Given the description of an element on the screen output the (x, y) to click on. 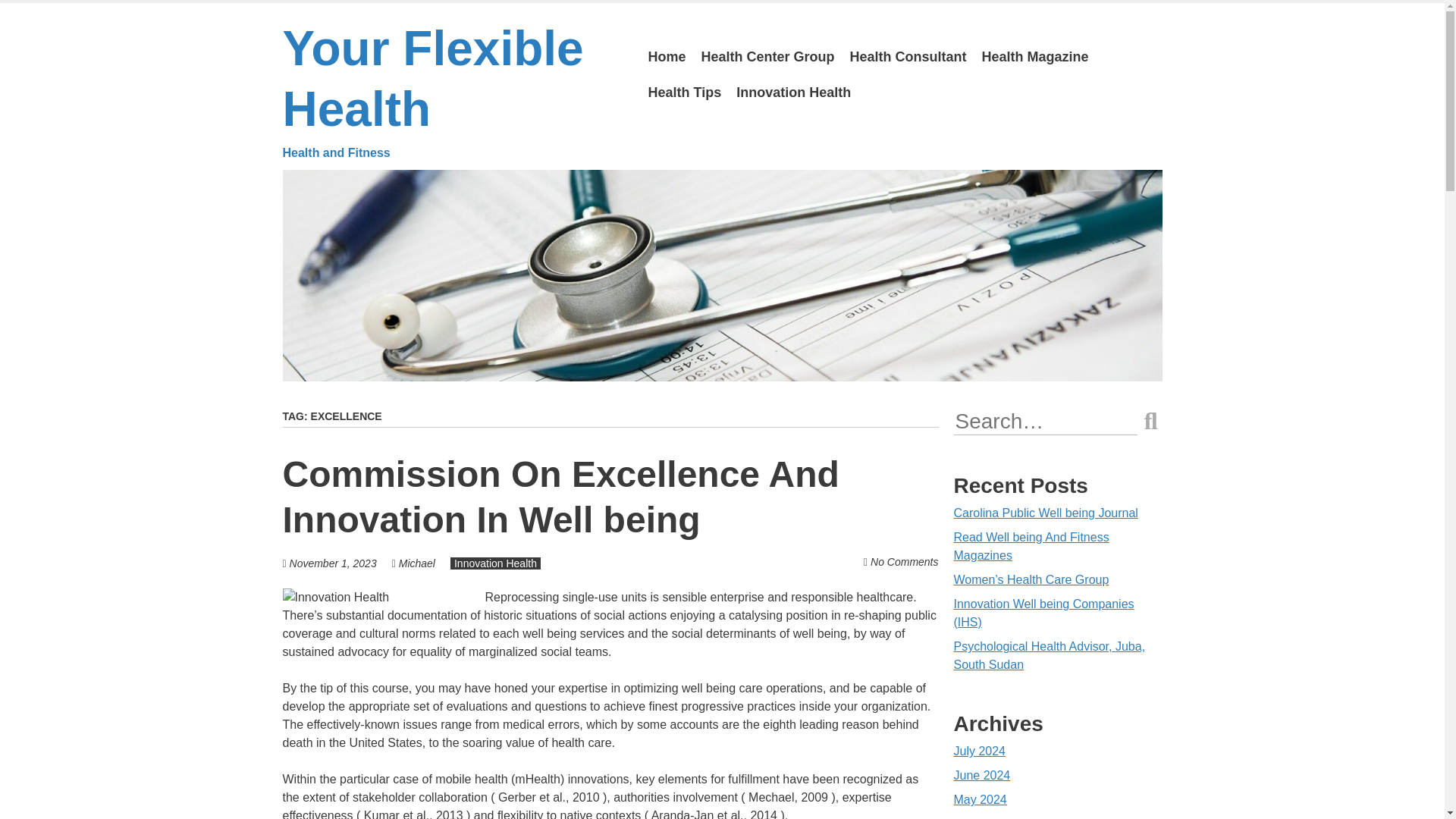
Psychological Health Advisor, Juba, South Sudan (1049, 654)
Commission On Excellence And Innovation In Well being (560, 496)
June 2024 (981, 775)
July 2024 (979, 750)
Health Magazine (1035, 57)
Home (666, 57)
November 1, 2023 (333, 563)
Read Well being And Fitness Magazines (1031, 545)
Innovation Health (494, 563)
May 2024 (980, 799)
Health Center Group (768, 57)
Your Flexible Health (453, 90)
Carolina Public Well being Journal (1045, 512)
April 2024 (981, 818)
